Given the description of an element on the screen output the (x, y) to click on. 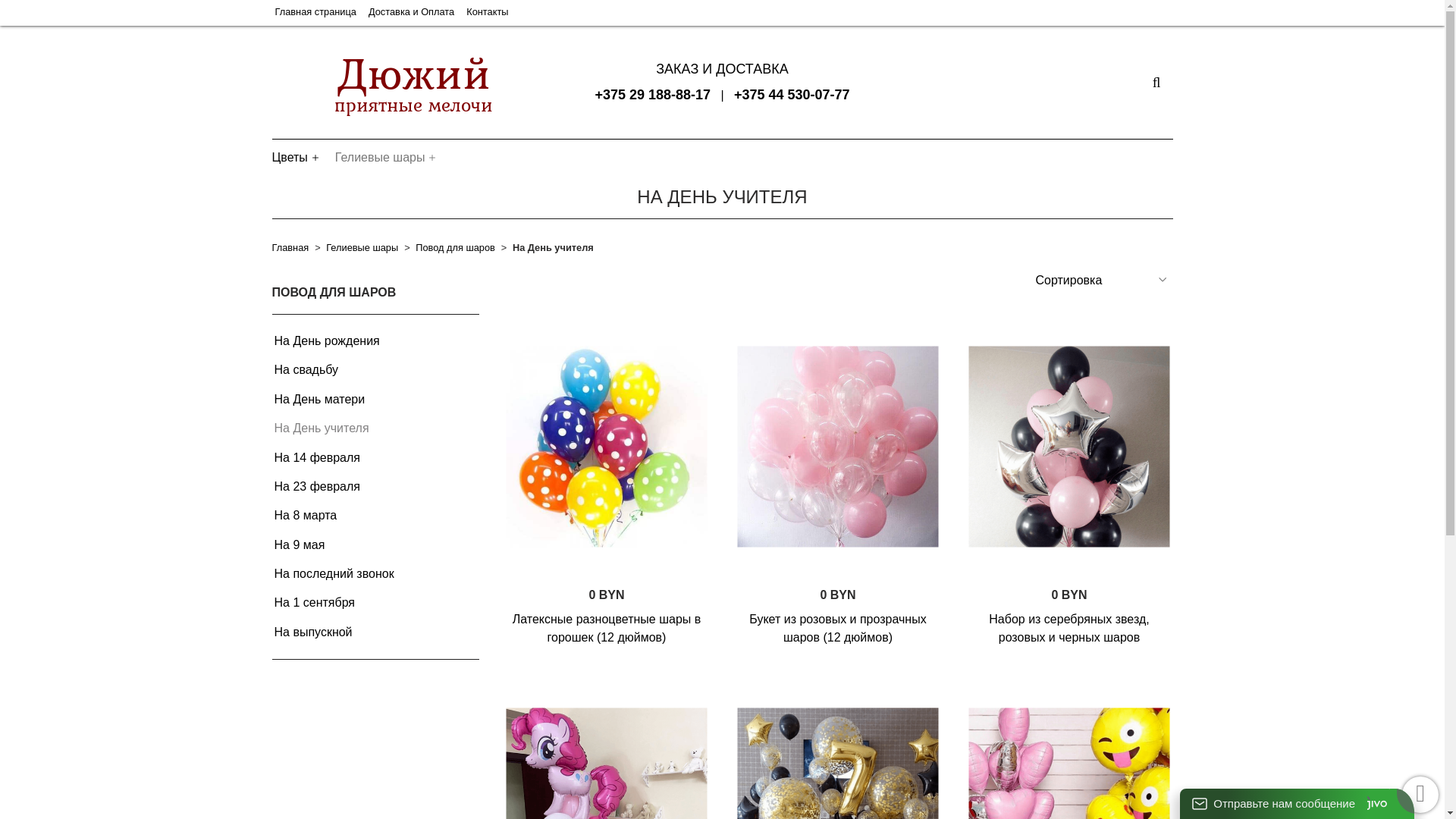
+375 44 530-07-77 Element type: text (792, 94)
+375 29 188-88-17 Element type: text (652, 94)
